Given the description of an element on the screen output the (x, y) to click on. 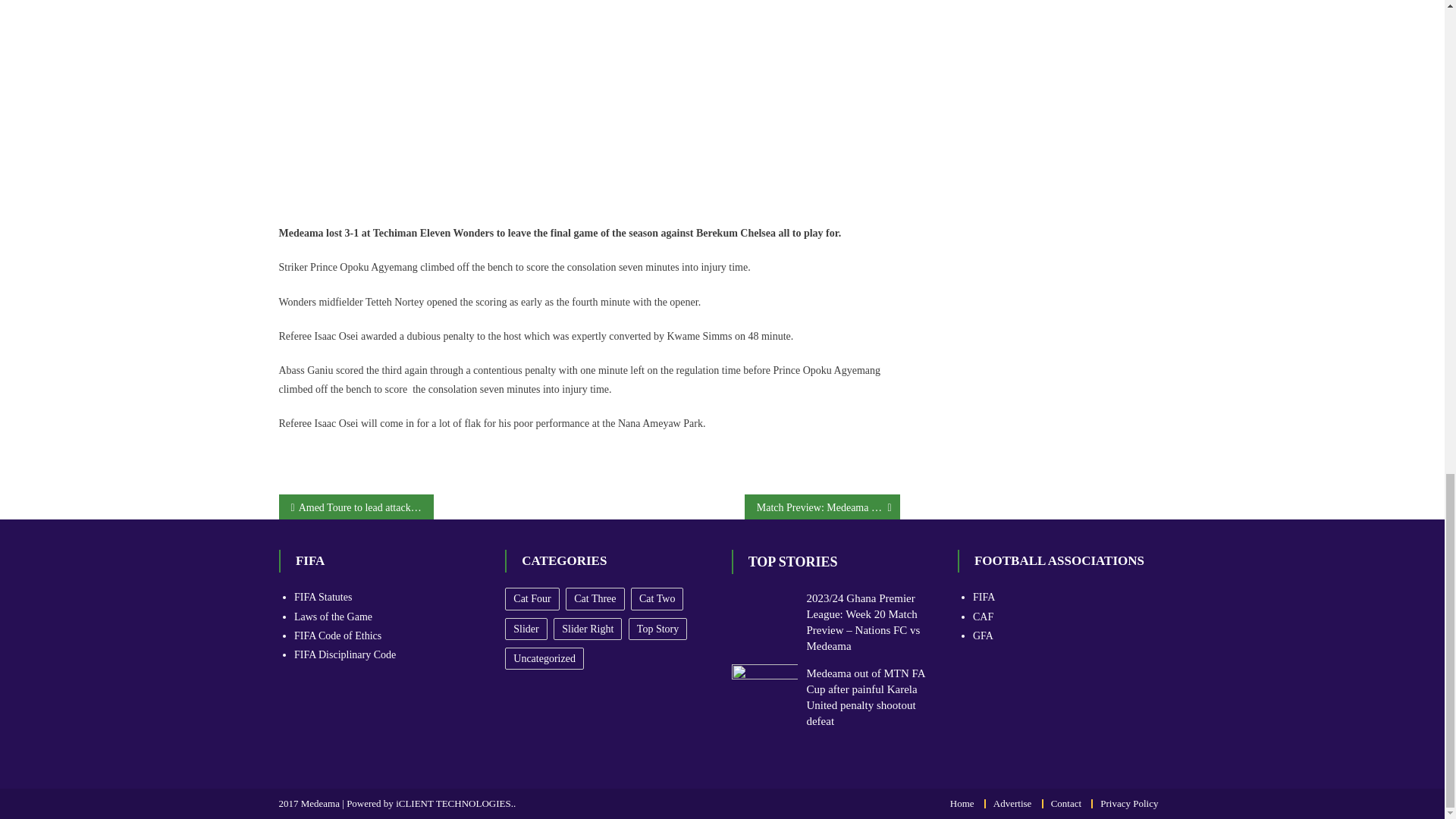
Amed Toure to lead attack against Techiman Eleven Wonders (356, 506)
Cat Two (656, 598)
FIFA Disciplinary Code (345, 654)
Cat Three (595, 598)
FIFA Code of Ethics (337, 635)
Laws of the Game (333, 615)
Cat Four (532, 598)
FIFA Statutes (323, 596)
